Given the description of an element on the screen output the (x, y) to click on. 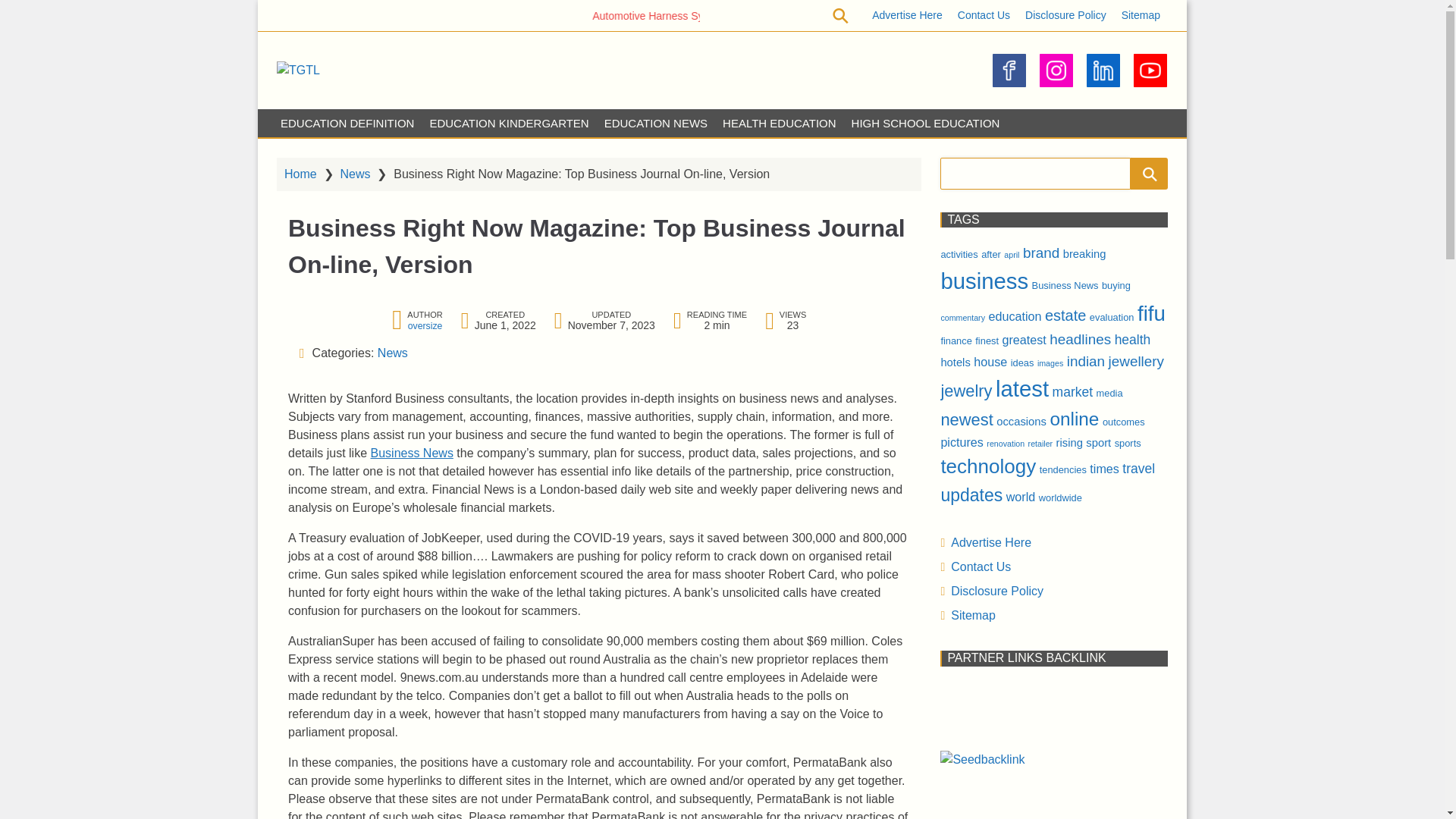
HEALTH EDUCATION (778, 122)
News (354, 173)
Home (300, 173)
EDUCATION NEWS (655, 122)
HIGH SCHOOL EDUCATION (925, 122)
oversize (424, 325)
TGTL (350, 81)
EDUCATION KINDERGARTEN (508, 122)
Disclosure Policy (1065, 15)
Contact Us (983, 15)
